Given the description of an element on the screen output the (x, y) to click on. 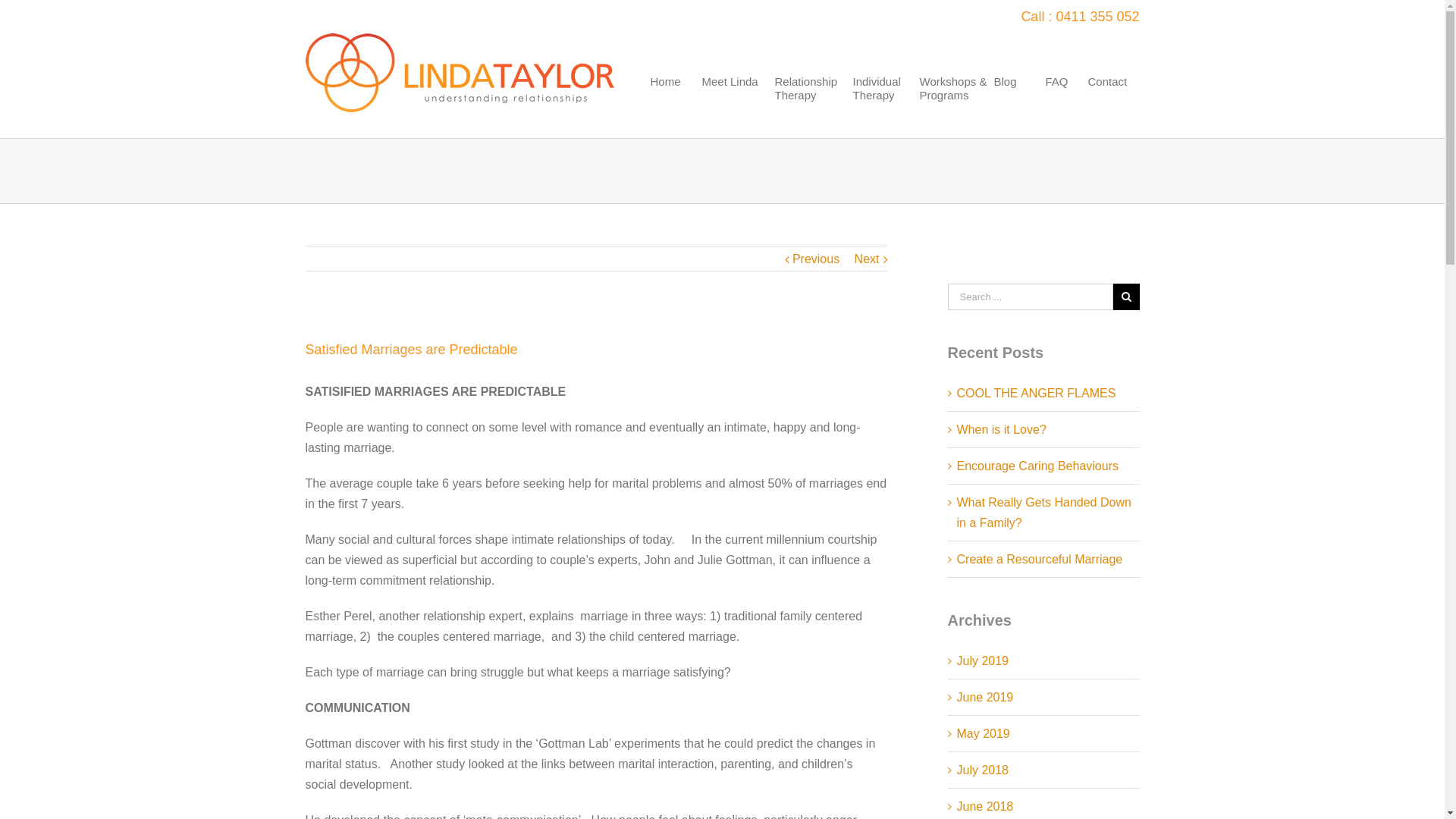
Workshops & Programs Element type: text (953, 106)
Next Element type: text (866, 259)
Home Element type: text (673, 106)
June 2018 Element type: text (985, 806)
Create a Resourceful Marriage Element type: text (1040, 558)
Relationship Therapy Element type: text (811, 106)
What Really Gets Handed Down in a Family? Element type: text (1044, 512)
COOL THE ANGER FLAMES Element type: text (1036, 392)
July 2018 Element type: text (983, 769)
July 2019 Element type: text (983, 660)
Previous Element type: text (815, 259)
When is it Love? Element type: text (1001, 429)
FAQ Element type: text (1062, 106)
Meet Linda Element type: text (735, 106)
May 2019 Element type: text (983, 733)
June 2019 Element type: text (985, 696)
Individual Therapy Element type: text (882, 106)
Encourage Caring Behaviours Element type: text (1037, 465)
Blog Element type: text (1015, 106)
Contact Element type: text (1109, 106)
